Given the description of an element on the screen output the (x, y) to click on. 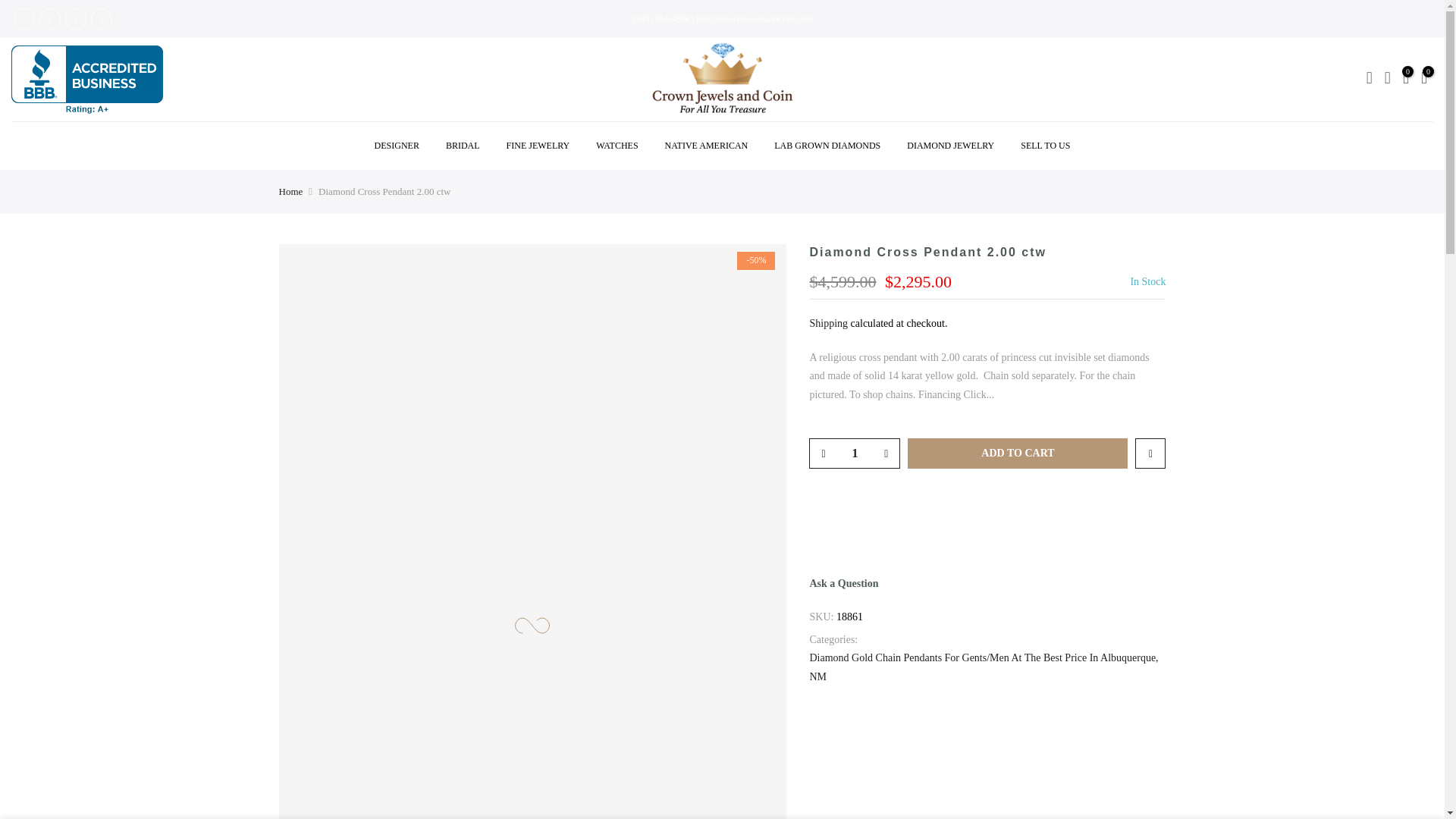
FINE JEWELRY (538, 145)
1 (854, 452)
0 (1405, 79)
NATIVE AMERICAN (705, 145)
BRIDAL (462, 145)
DESIGNER (396, 145)
LAB GROWN DIAMONDS (827, 145)
WATCHES (616, 145)
